Given the description of an element on the screen output the (x, y) to click on. 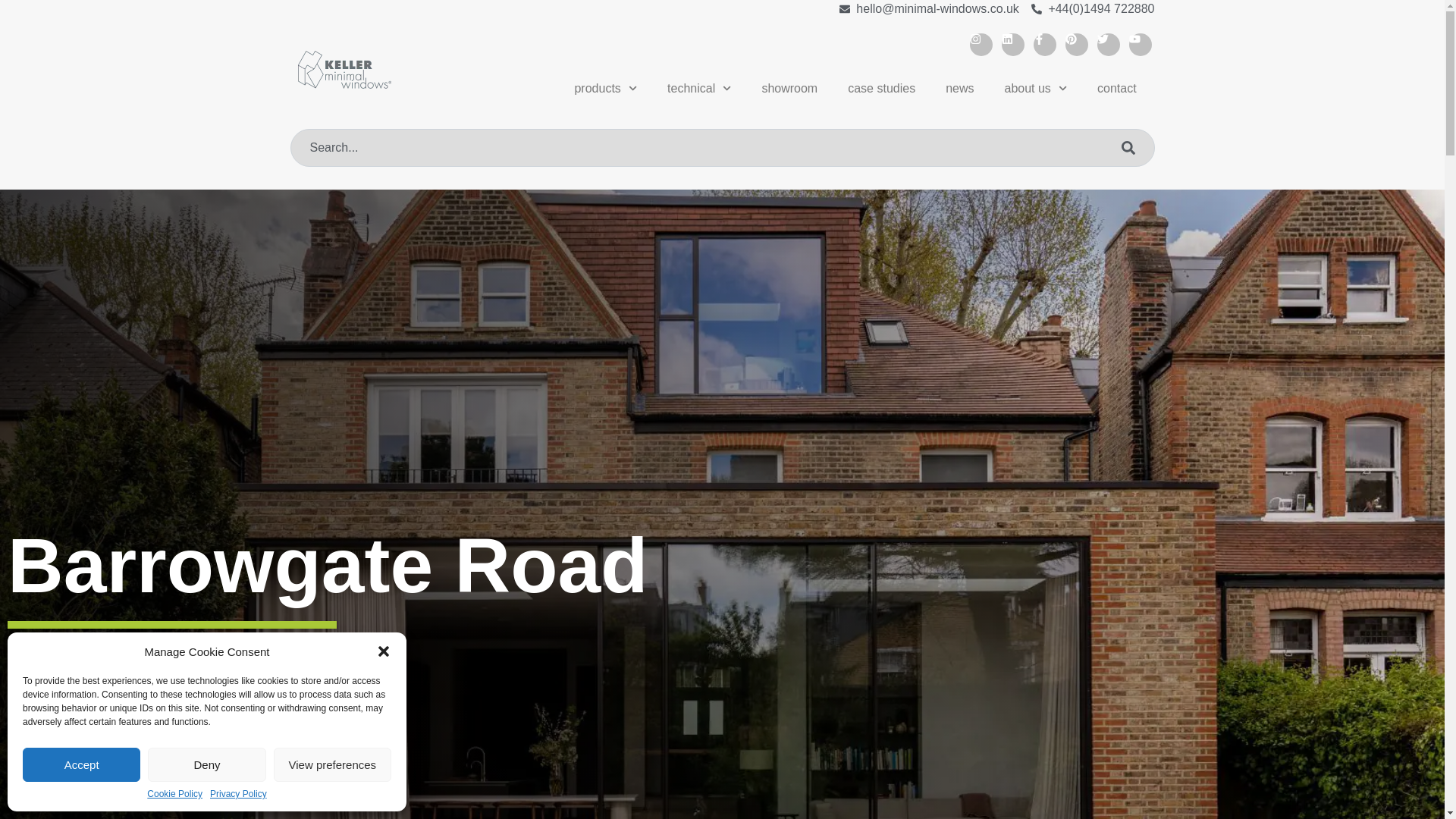
Cookie Policy (174, 794)
View preferences (332, 764)
products (605, 88)
Privacy Policy (237, 794)
technical (698, 88)
Accept (81, 764)
Deny (206, 764)
